Given the description of an element on the screen output the (x, y) to click on. 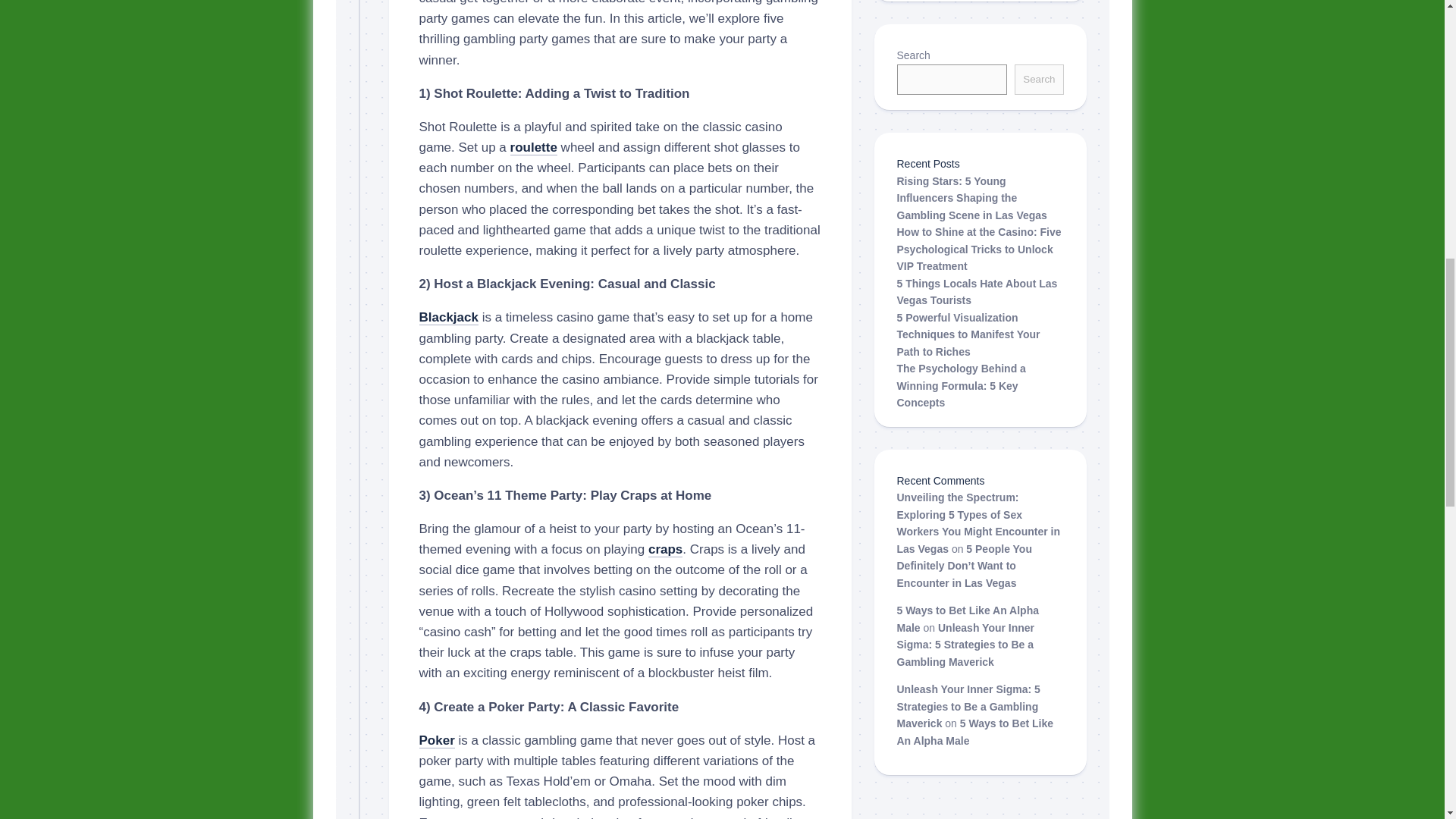
craps (664, 549)
Blackjack (448, 317)
roulette (534, 147)
Poker (436, 740)
